Given the description of an element on the screen output the (x, y) to click on. 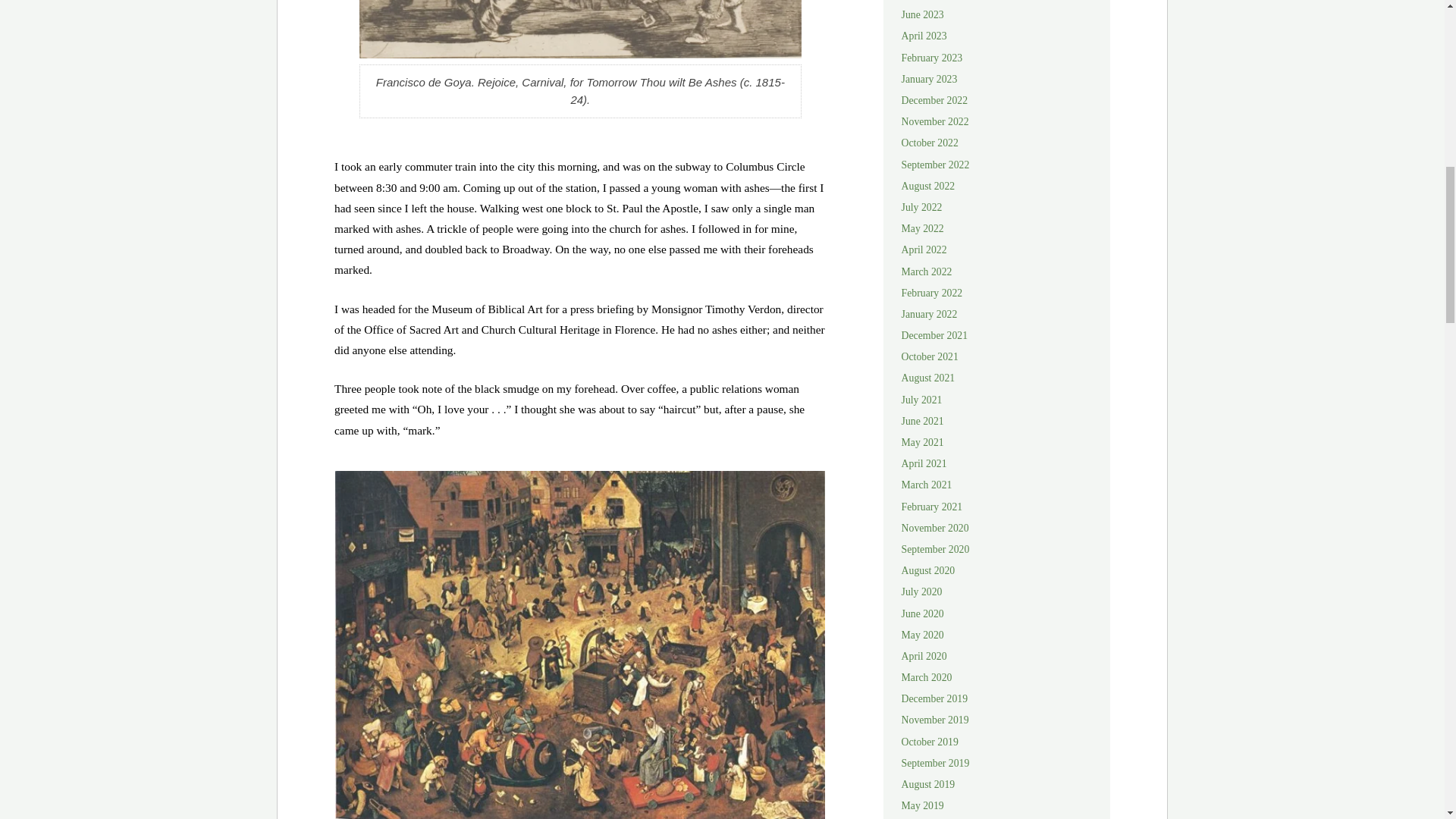
February 2023 (931, 57)
June 2023 (922, 14)
April 2023 (924, 35)
